Given the description of an element on the screen output the (x, y) to click on. 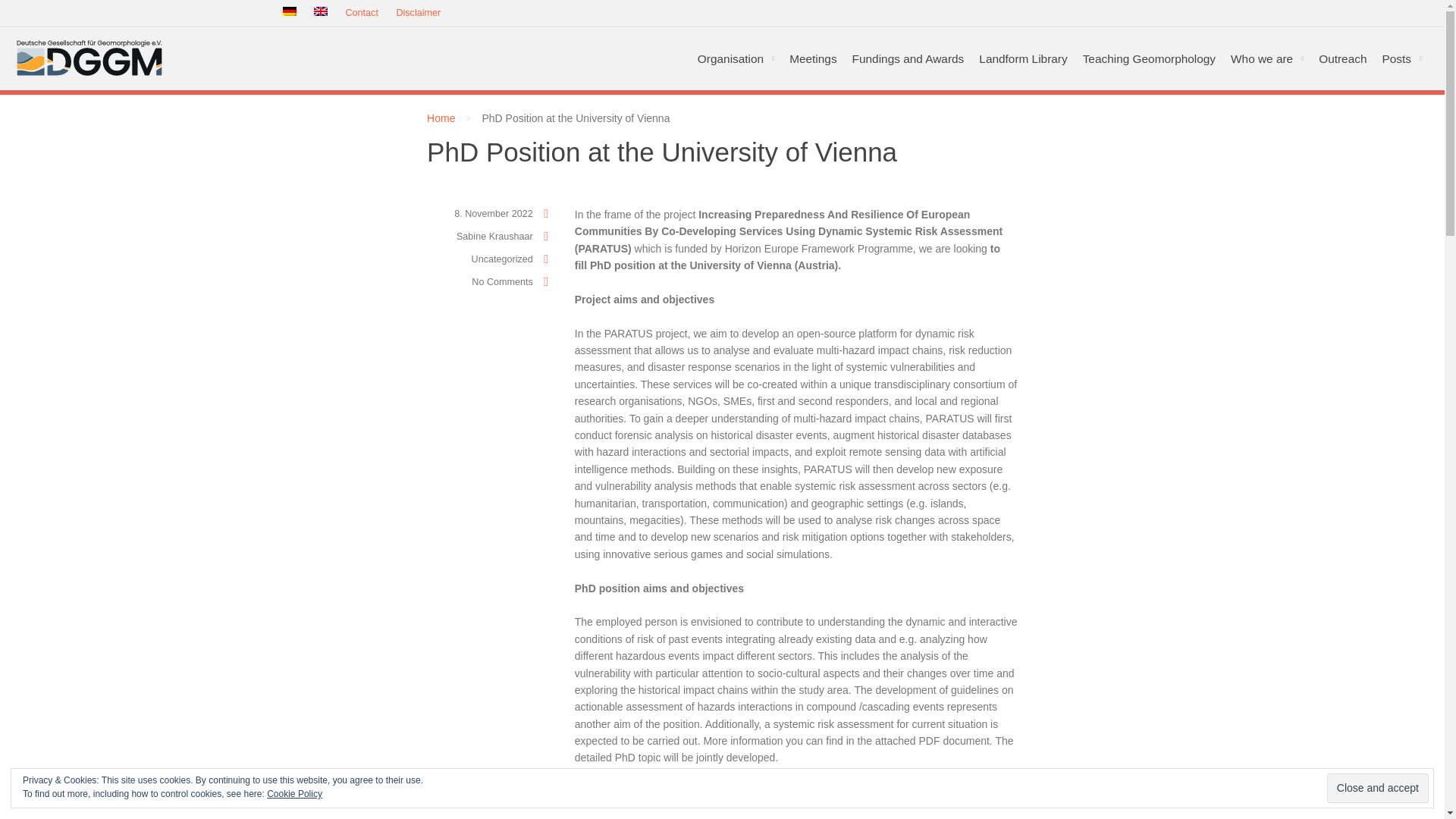
View all posts by Sabine Kraushaar (494, 235)
Home (440, 118)
Landform Library (1022, 58)
Uncategorized (501, 258)
Posts (1401, 58)
Meetings (812, 58)
Organisation (735, 58)
Fundings and Awards (908, 58)
Who we are (1267, 58)
Contact (361, 13)
